Given the description of an element on the screen output the (x, y) to click on. 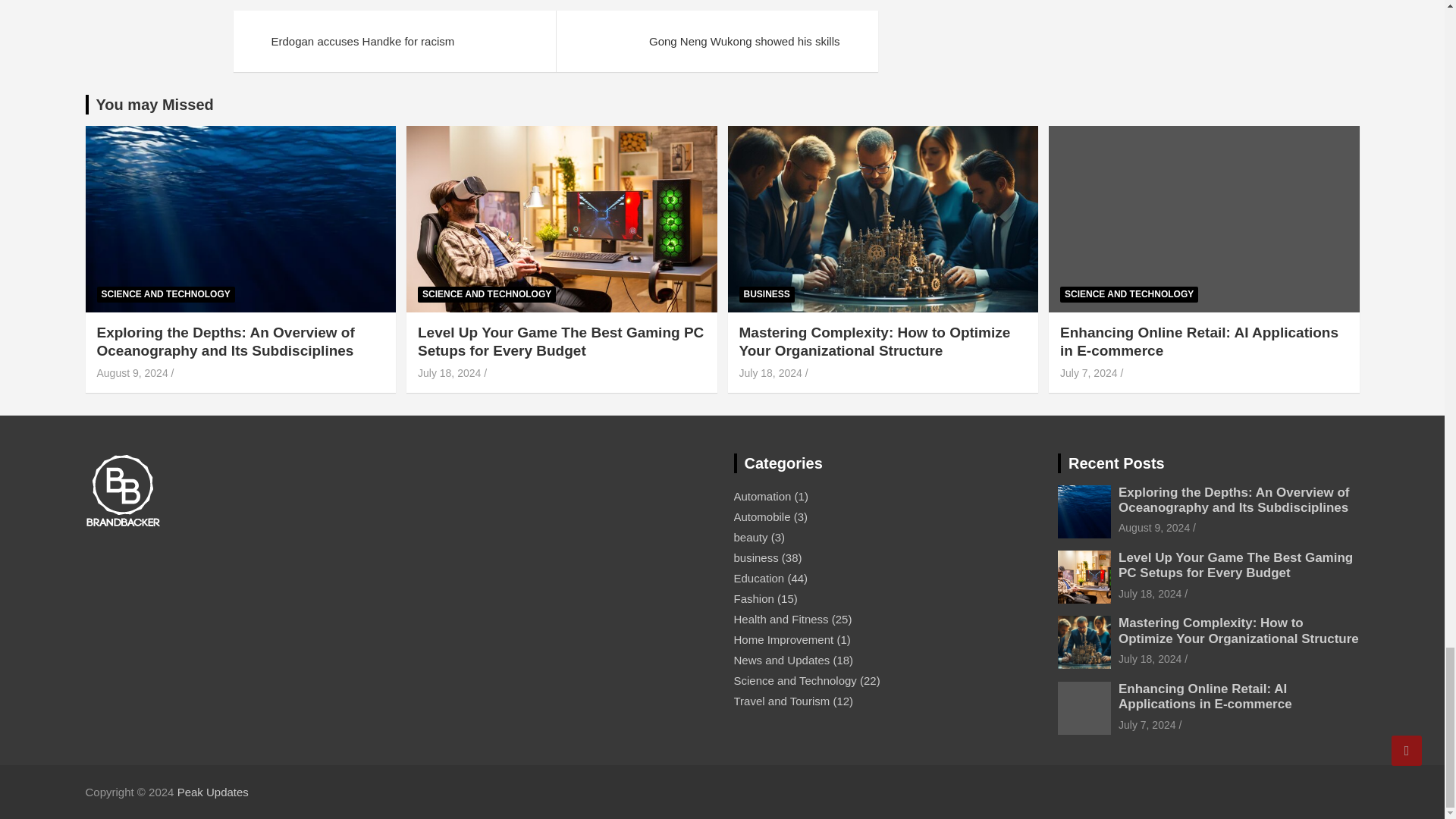
Enhancing Online Retail: AI Applications in E-commerce (1088, 372)
Enhancing Online Retail: AI Applications in E-commerce (1147, 725)
Peak Updates (212, 791)
Erdogan accuses Handke for racism (394, 41)
BrandBacker Member (122, 491)
Gong Neng Wukong showed his skills (715, 41)
